Given the description of an element on the screen output the (x, y) to click on. 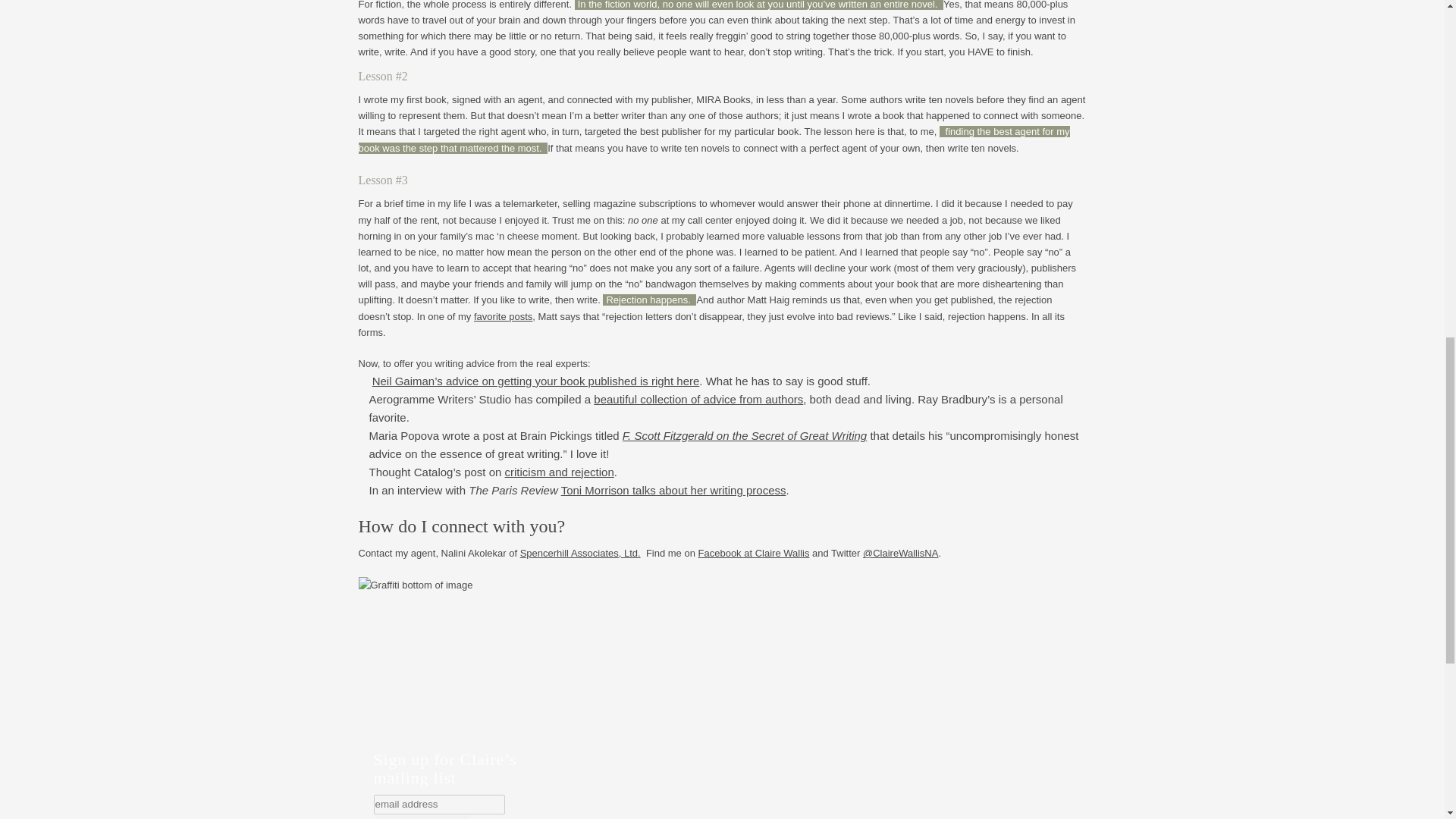
favorite posts (503, 316)
Subscribe (421, 816)
criticism and rejection (559, 472)
F. Scott Fitzgerald on the Secret of Great Writing (744, 435)
beautiful collection of advice from authors (698, 399)
Facebook at Claire Wallis (753, 552)
Subscribe (421, 816)
Toni Morrison talks about her writing process (673, 490)
Spencerhill Associates, Ltd. (579, 552)
